Given the description of an element on the screen output the (x, y) to click on. 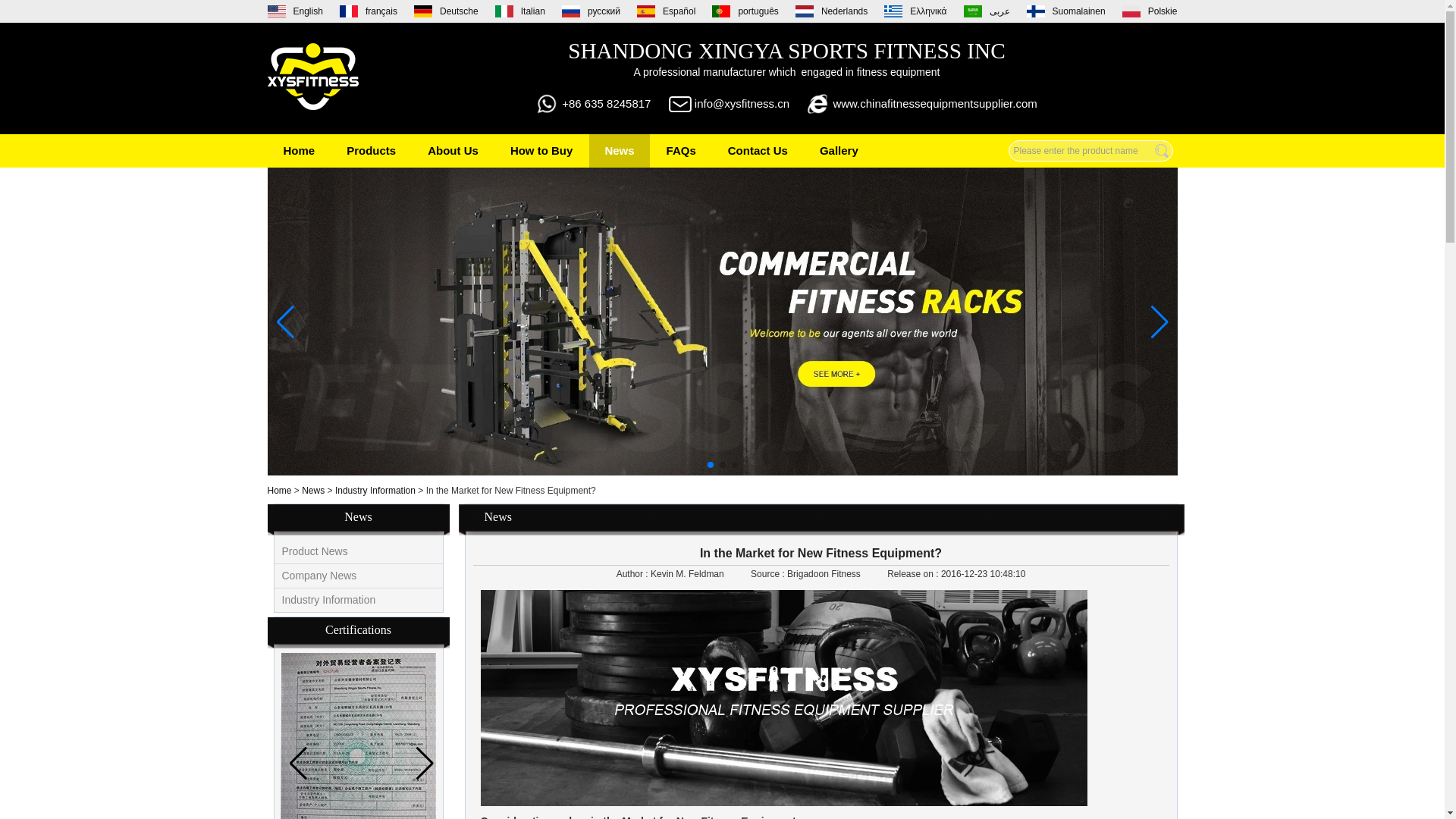
China Company News manufacturer (319, 575)
Home (298, 150)
www.chinafitnessequipmentsupplier.com (934, 103)
7441654 (358, 735)
China Product News manufacturer (314, 551)
Shandong Xingya Sports Fitness Inc (312, 119)
Shandong Xingya Sports Fitness Inc (312, 76)
Italian (519, 11)
Products (370, 150)
Please enter the product name (1091, 150)
English (293, 11)
Deutsche (446, 11)
Polskie (1149, 11)
China Industry Information manufacturer (328, 599)
Suomalainen (1065, 11)
